Given the description of an element on the screen output the (x, y) to click on. 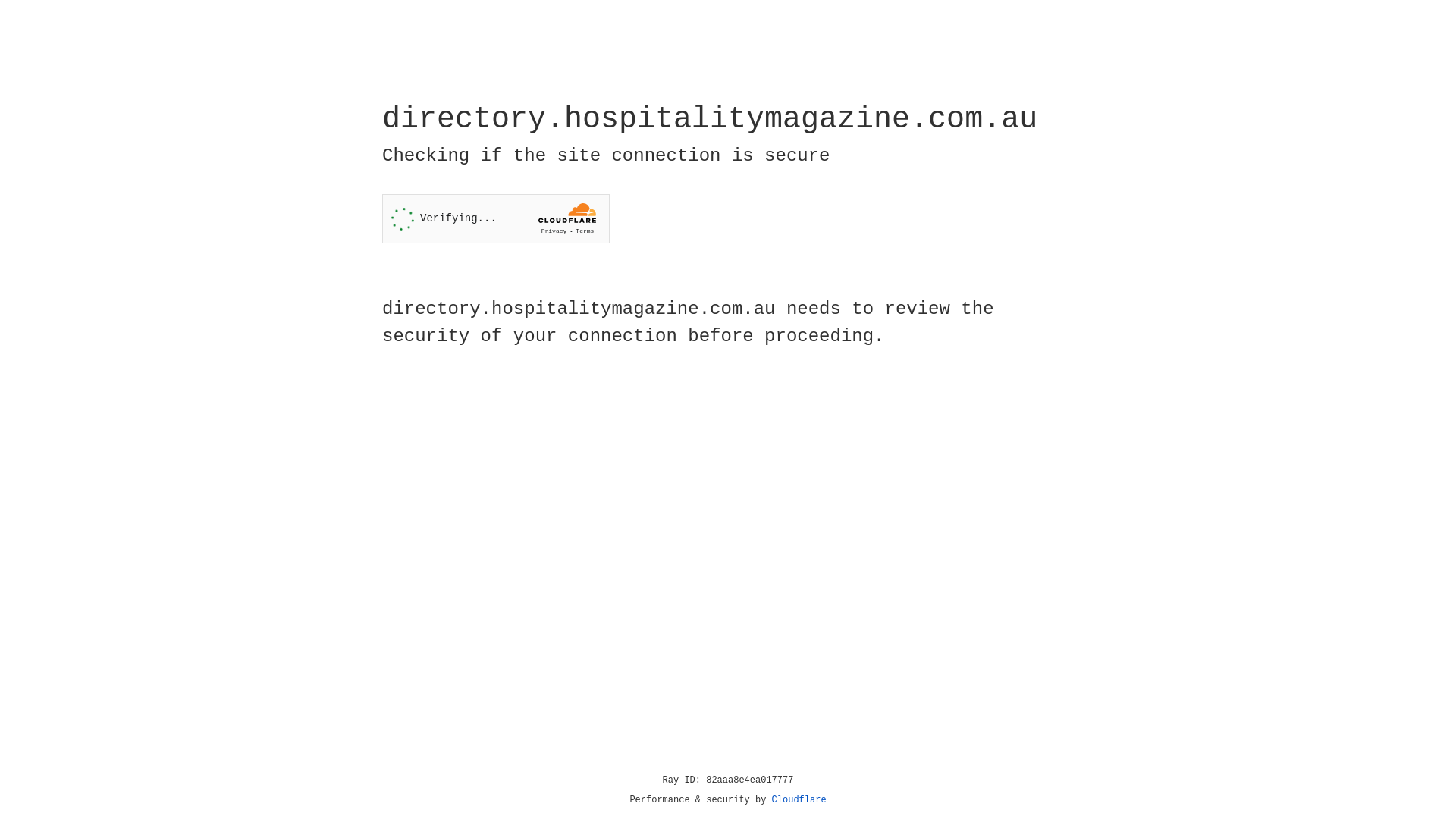
Widget containing a Cloudflare security challenge Element type: hover (495, 218)
Cloudflare Element type: text (798, 799)
